Given the description of an element on the screen output the (x, y) to click on. 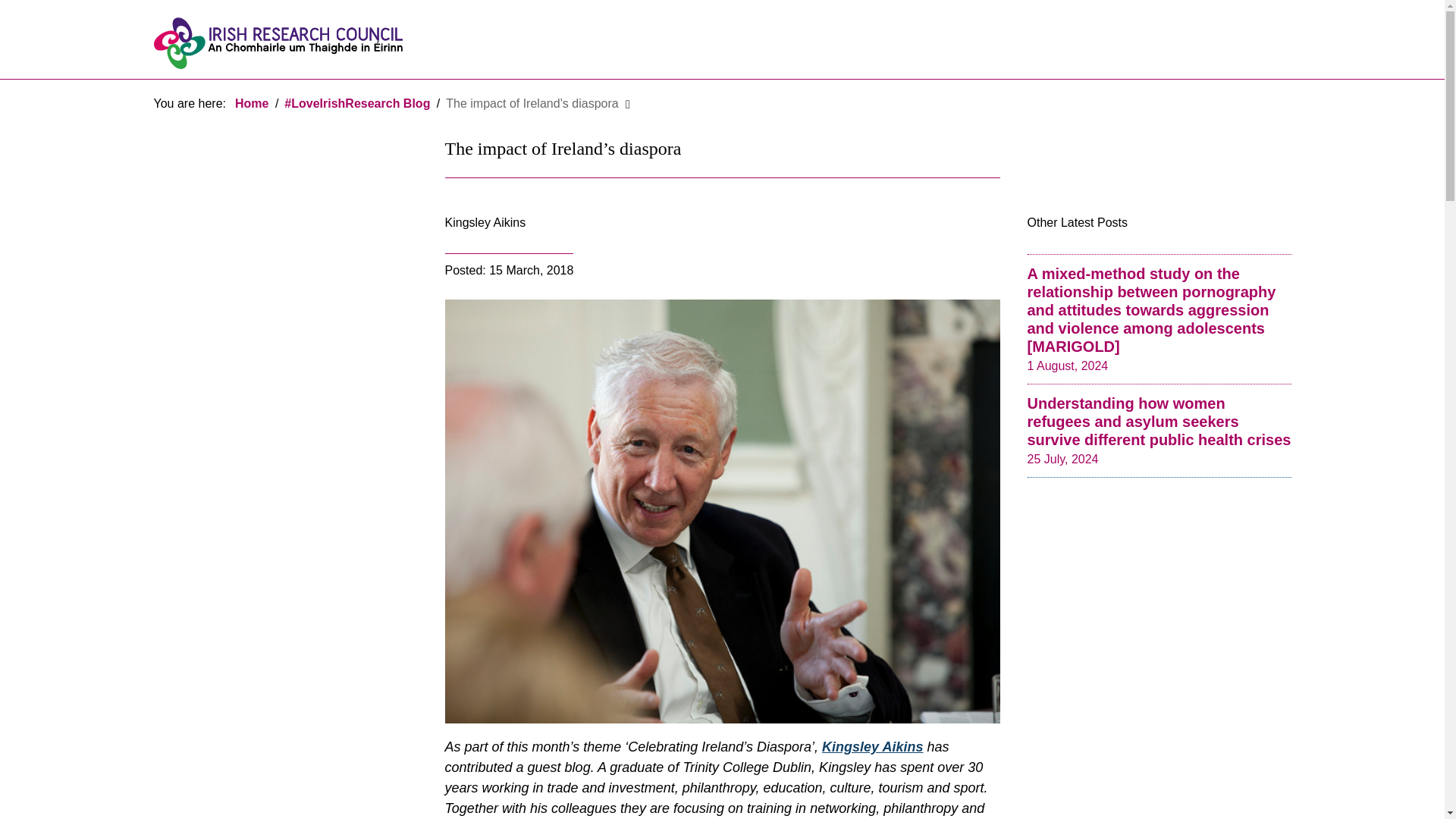
Home (250, 103)
Irish Research Council (276, 43)
Kingsley Aikins (872, 746)
